Given the description of an element on the screen output the (x, y) to click on. 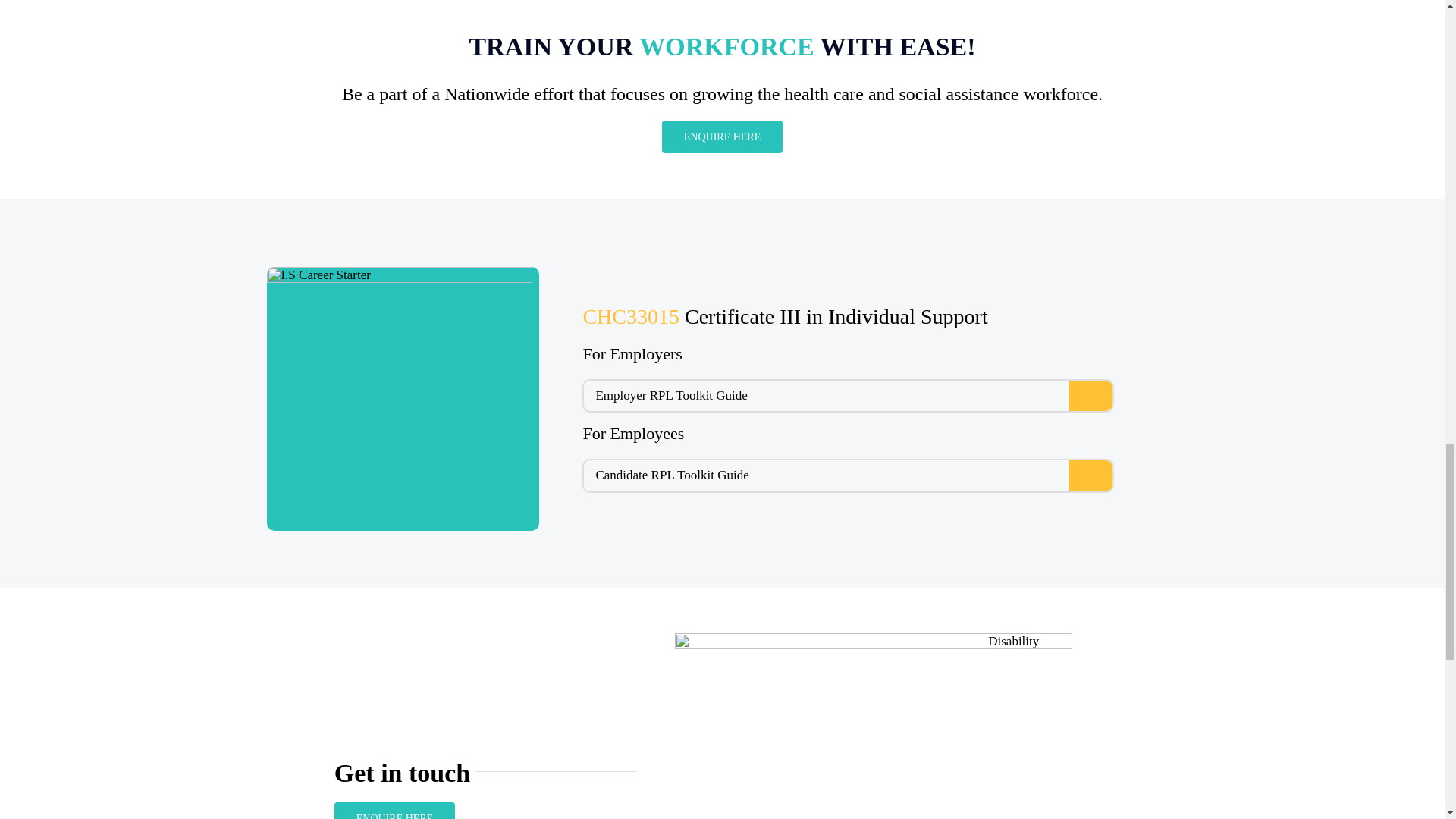
Disability (873, 726)
I.S Career Starter (398, 398)
